Given the description of an element on the screen output the (x, y) to click on. 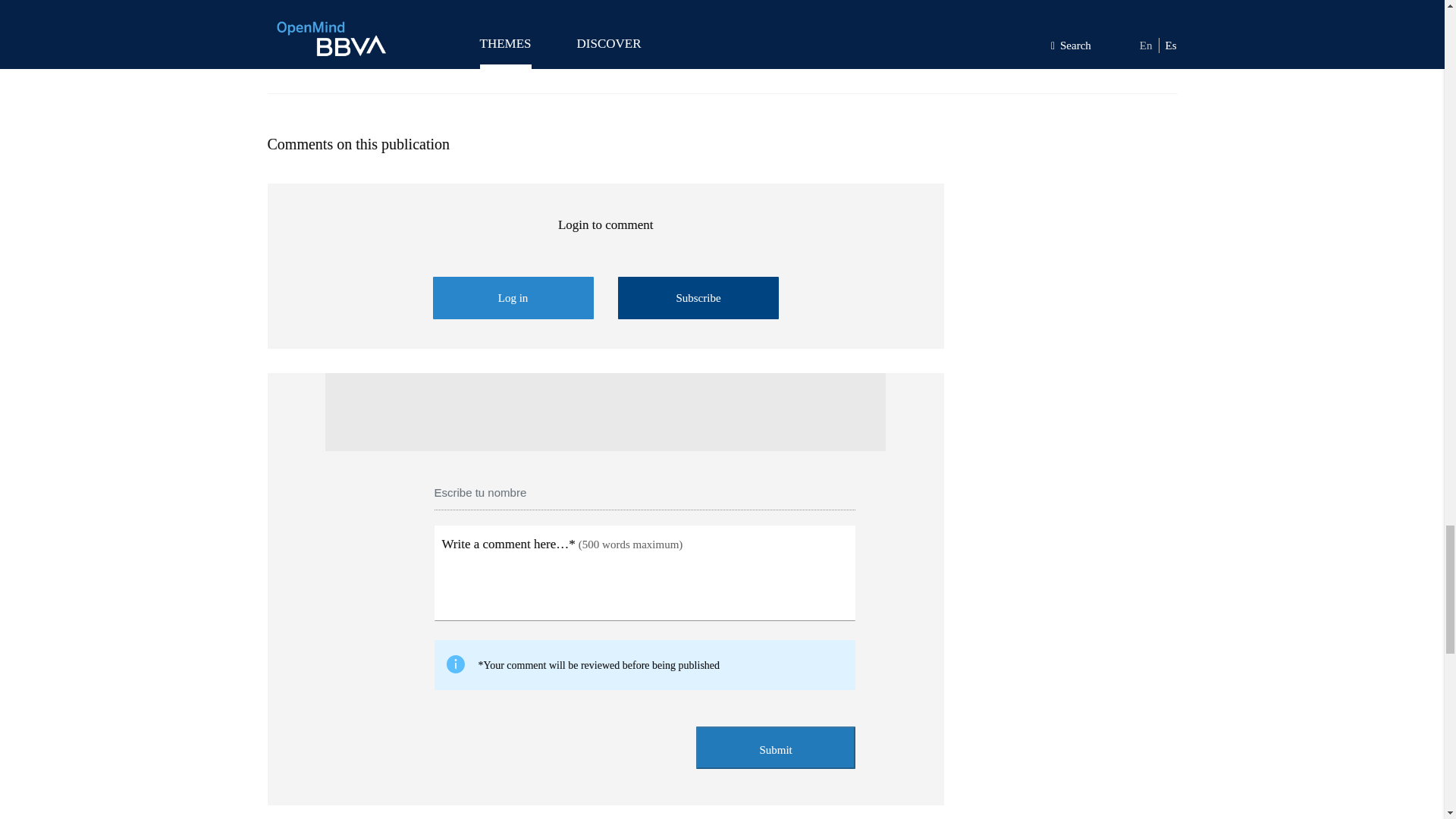
Communications (721, 7)
